Given the description of an element on the screen output the (x, y) to click on. 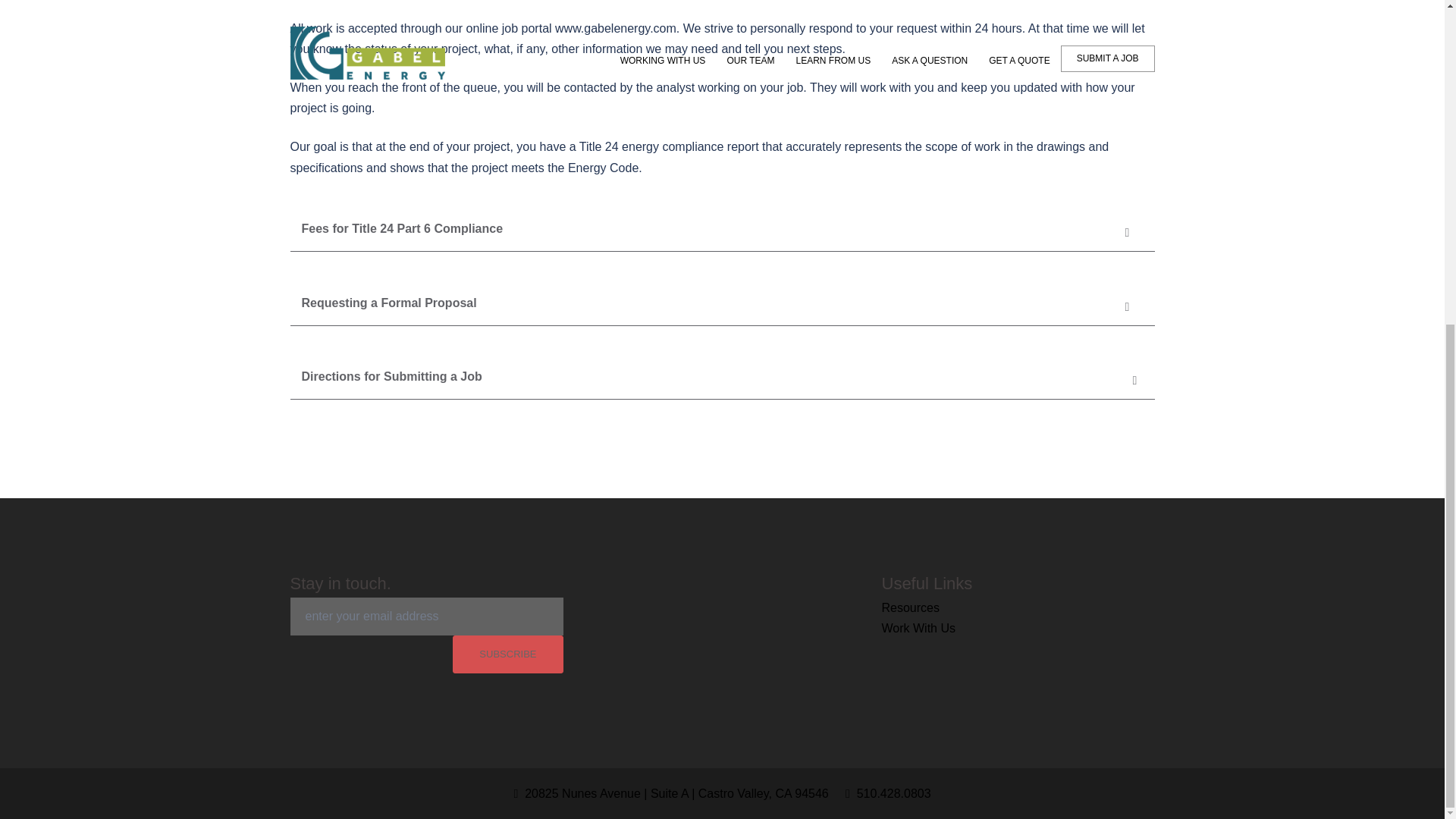
Fees for Title 24 Part 6 Compliance (721, 229)
Subscribe (507, 654)
Subscribe (507, 654)
Work With Us (917, 627)
Directions for Submitting a Job (721, 376)
Resources (909, 607)
Requesting a Formal Proposal (721, 303)
